Given the description of an element on the screen output the (x, y) to click on. 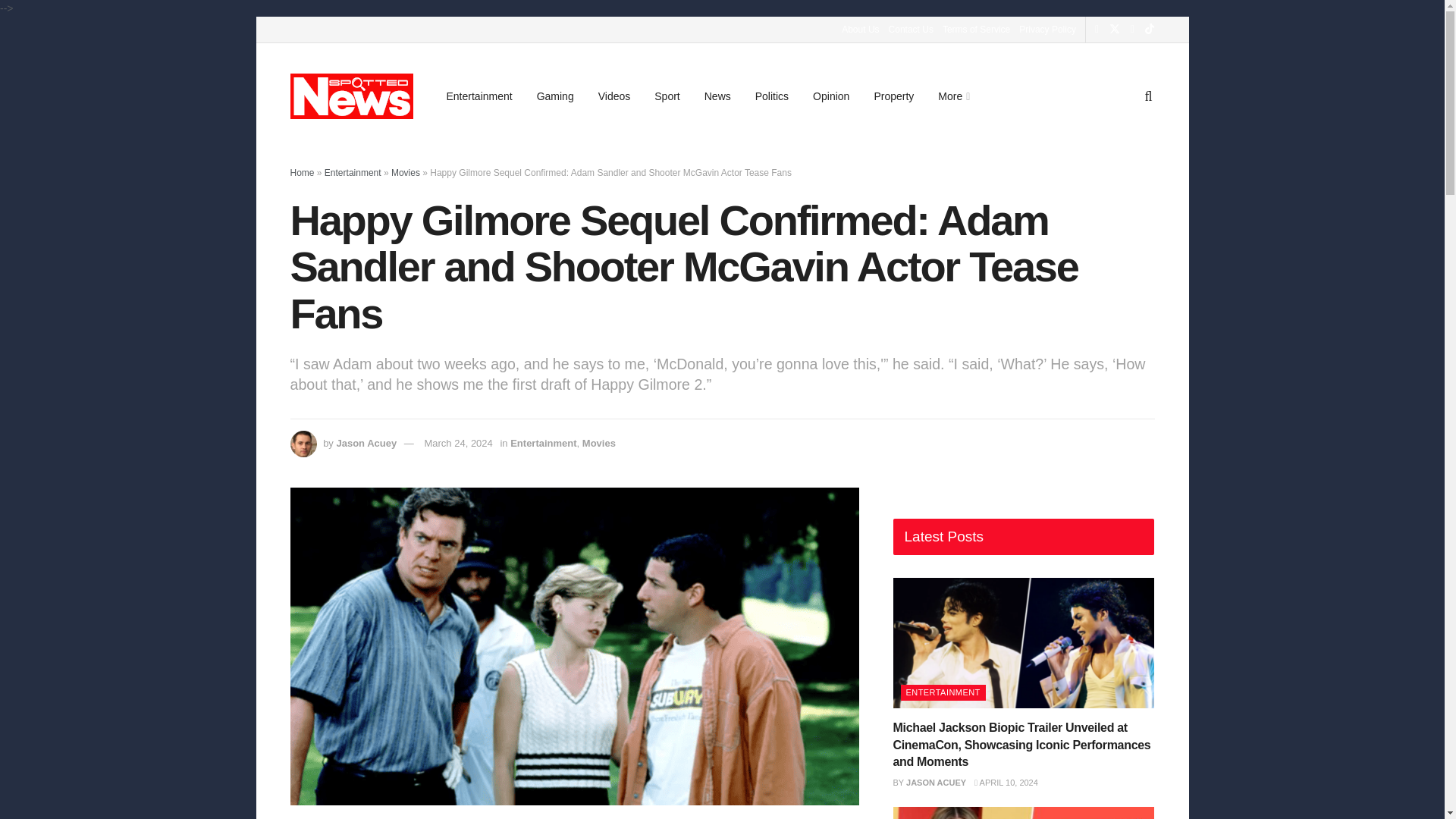
More (952, 95)
Property (893, 95)
Movies (405, 172)
Movies (598, 442)
News (717, 95)
Gaming (555, 95)
Entertainment (352, 172)
Contact Us (910, 29)
Politics (771, 95)
About Us (860, 29)
